Given the description of an element on the screen output the (x, y) to click on. 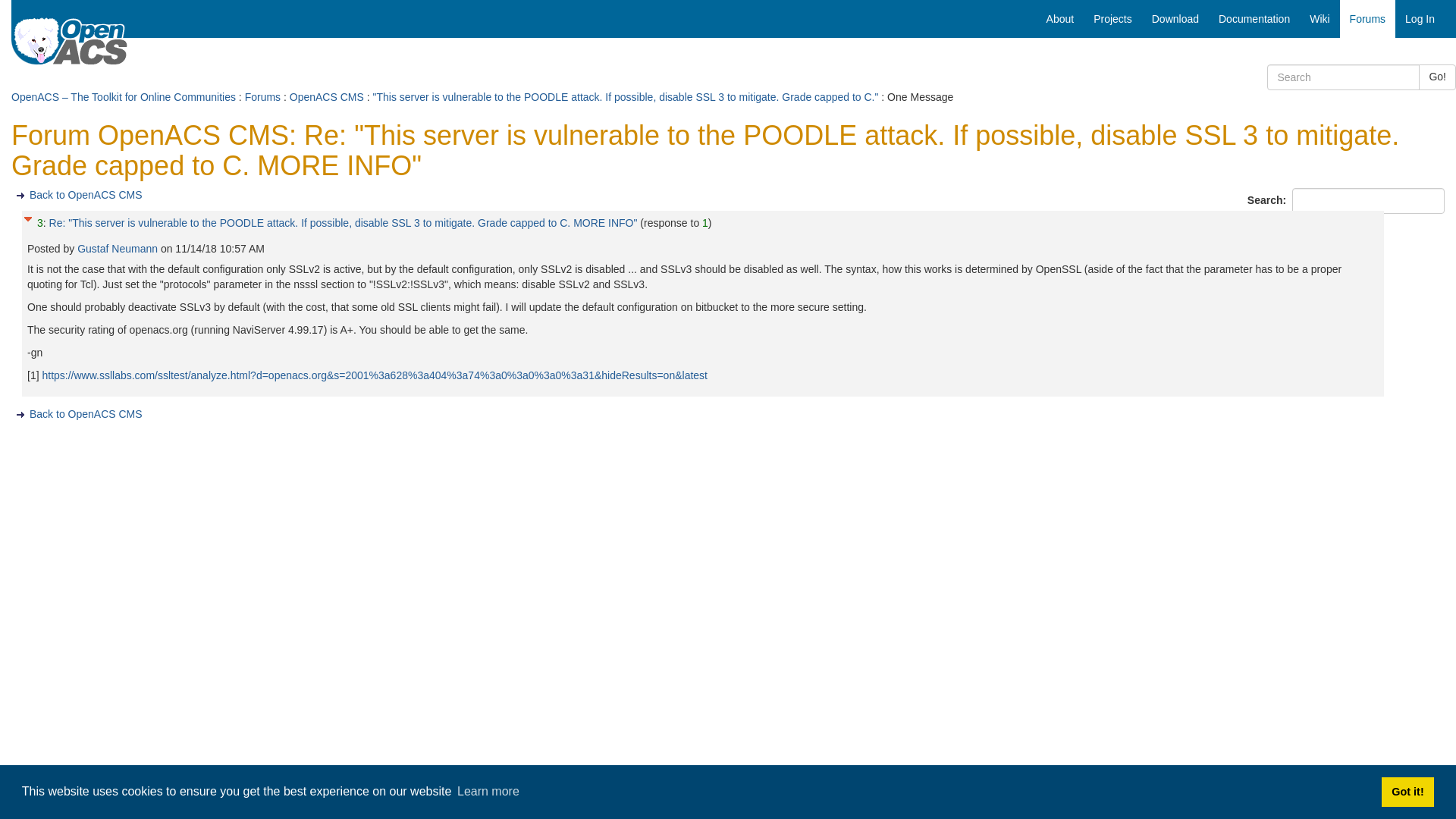
Show Gustaf Neumann posting history (118, 248)
About (1060, 18)
OpenACS CMS (326, 96)
Download OpenACS (1174, 18)
Gustaf Neumann (118, 248)
Wiki (1319, 18)
Projects (1112, 18)
Link to this post on a separate page (343, 223)
Projects based on OpenACS (1112, 18)
